Given the description of an element on the screen output the (x, y) to click on. 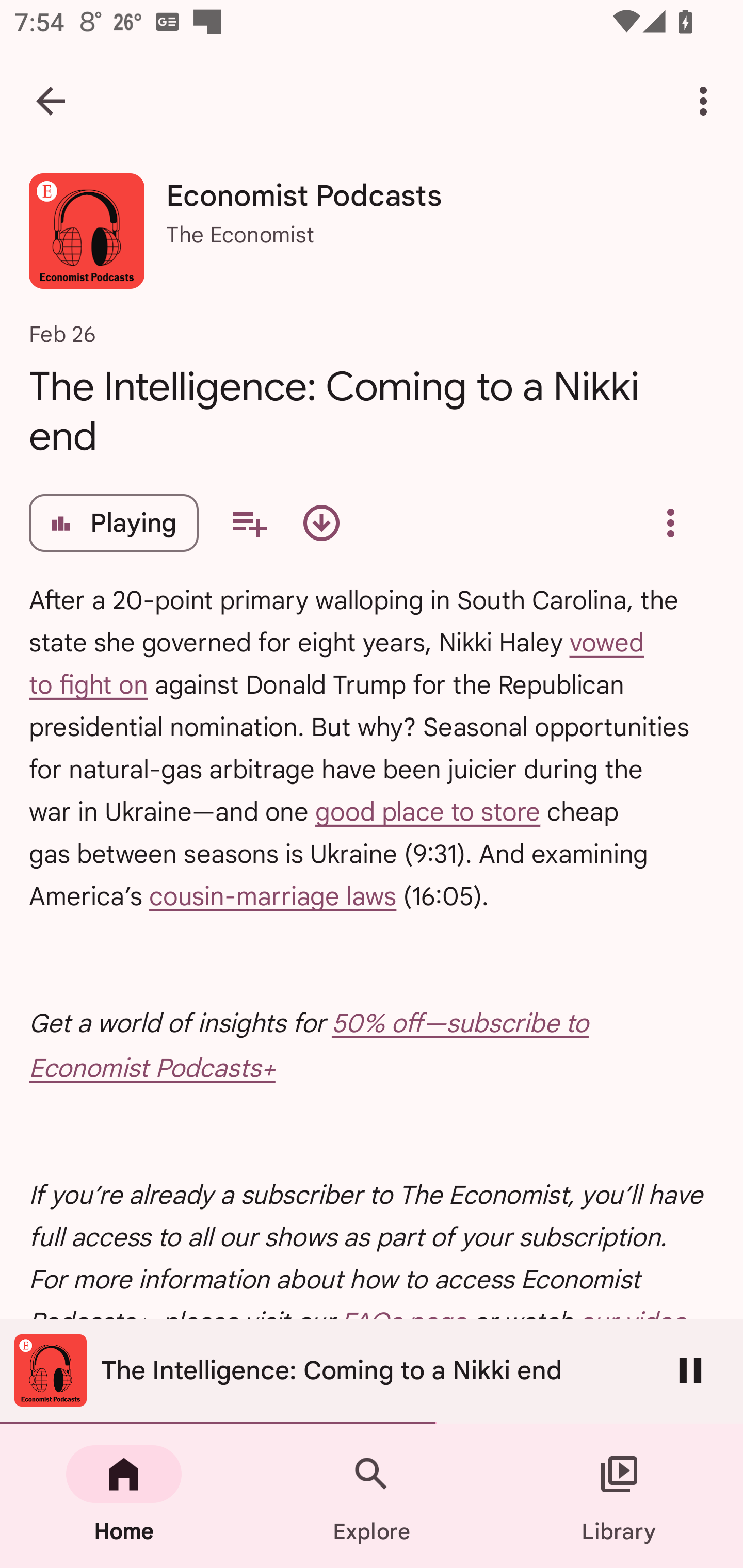
Navigate up (50, 101)
More options (706, 101)
Add to your queue (249, 522)
Download episode (321, 522)
Overflow menu (670, 522)
Pause (690, 1370)
Explore (371, 1495)
Library (619, 1495)
